Given the description of an element on the screen output the (x, y) to click on. 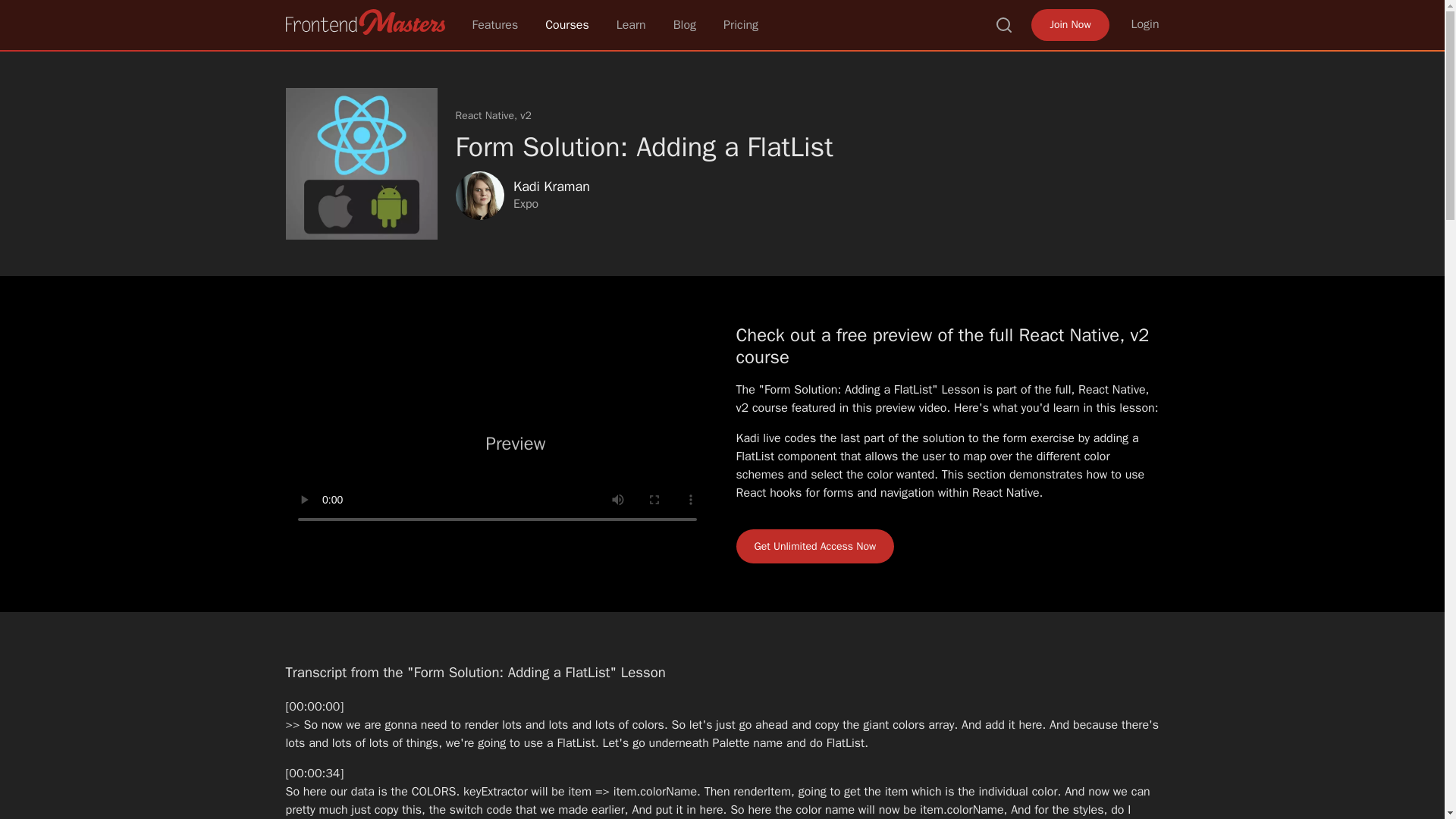
Courses (566, 24)
Kadi Kraman (478, 195)
React Native, v2 (492, 115)
Features (494, 24)
Pricing (740, 24)
FrontendMasters (364, 22)
Join Now (1069, 24)
Kadi Kraman (550, 186)
Learn (630, 24)
Login (1144, 24)
